Given the description of an element on the screen output the (x, y) to click on. 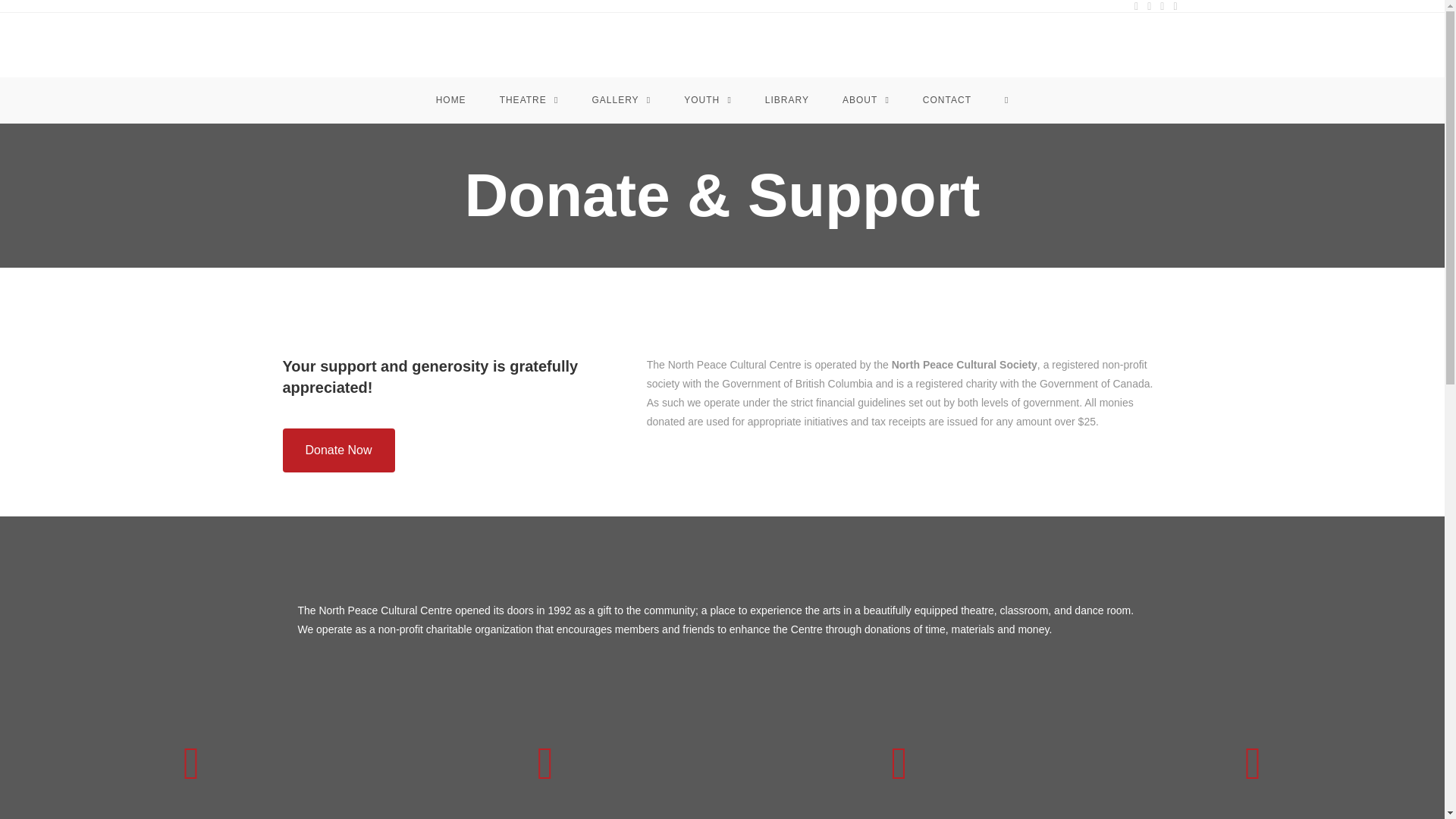
LIBRARY (786, 99)
HOME (451, 99)
GALLERY (620, 99)
THEATRE (529, 99)
CONTACT (946, 99)
ABOUT (865, 99)
YOUTH (707, 99)
